Given the description of an element on the screen output the (x, y) to click on. 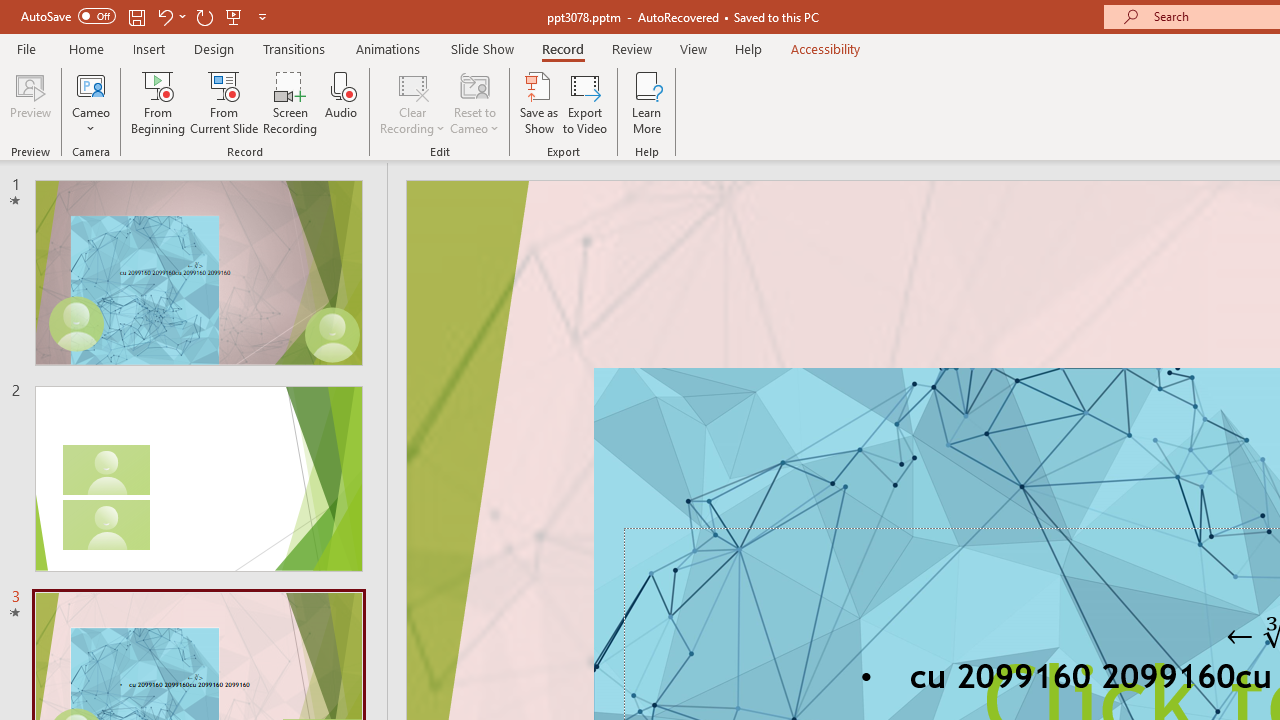
Preview (30, 102)
From Beginning... (158, 102)
Audio (341, 102)
Cameo (91, 102)
Learn More (646, 102)
Export to Video (585, 102)
